Given the description of an element on the screen output the (x, y) to click on. 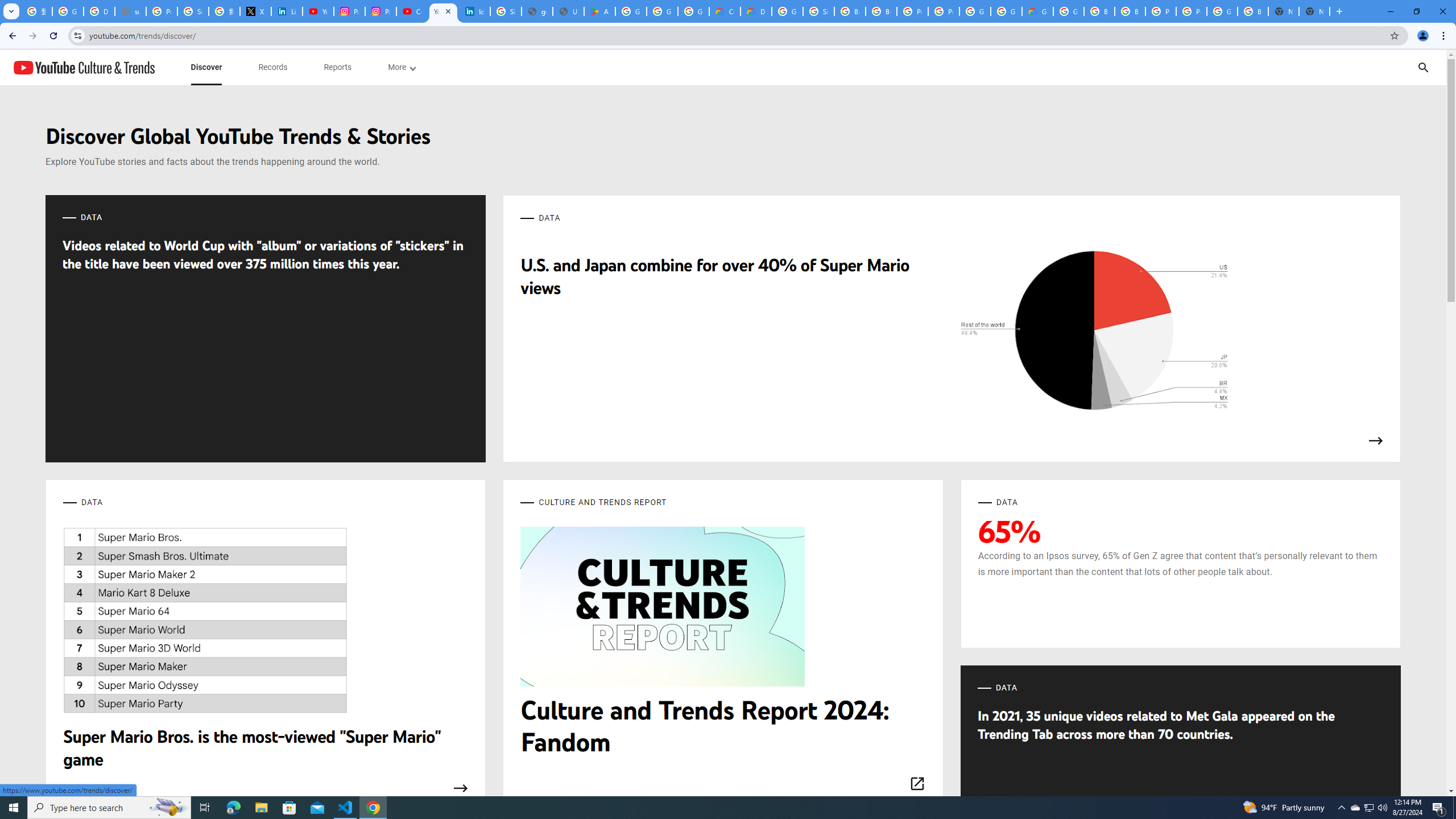
subnav-Discover menupopup (205, 67)
Browse Chrome as a guest - Computer - Google Chrome Help (1098, 11)
Google Cloud Platform (1068, 11)
LinkedIn Privacy Policy (286, 11)
subnav-More menupopup (401, 67)
Google Cloud Platform (1005, 11)
subnav-Records menupopup (272, 67)
